Given the description of an element on the screen output the (x, y) to click on. 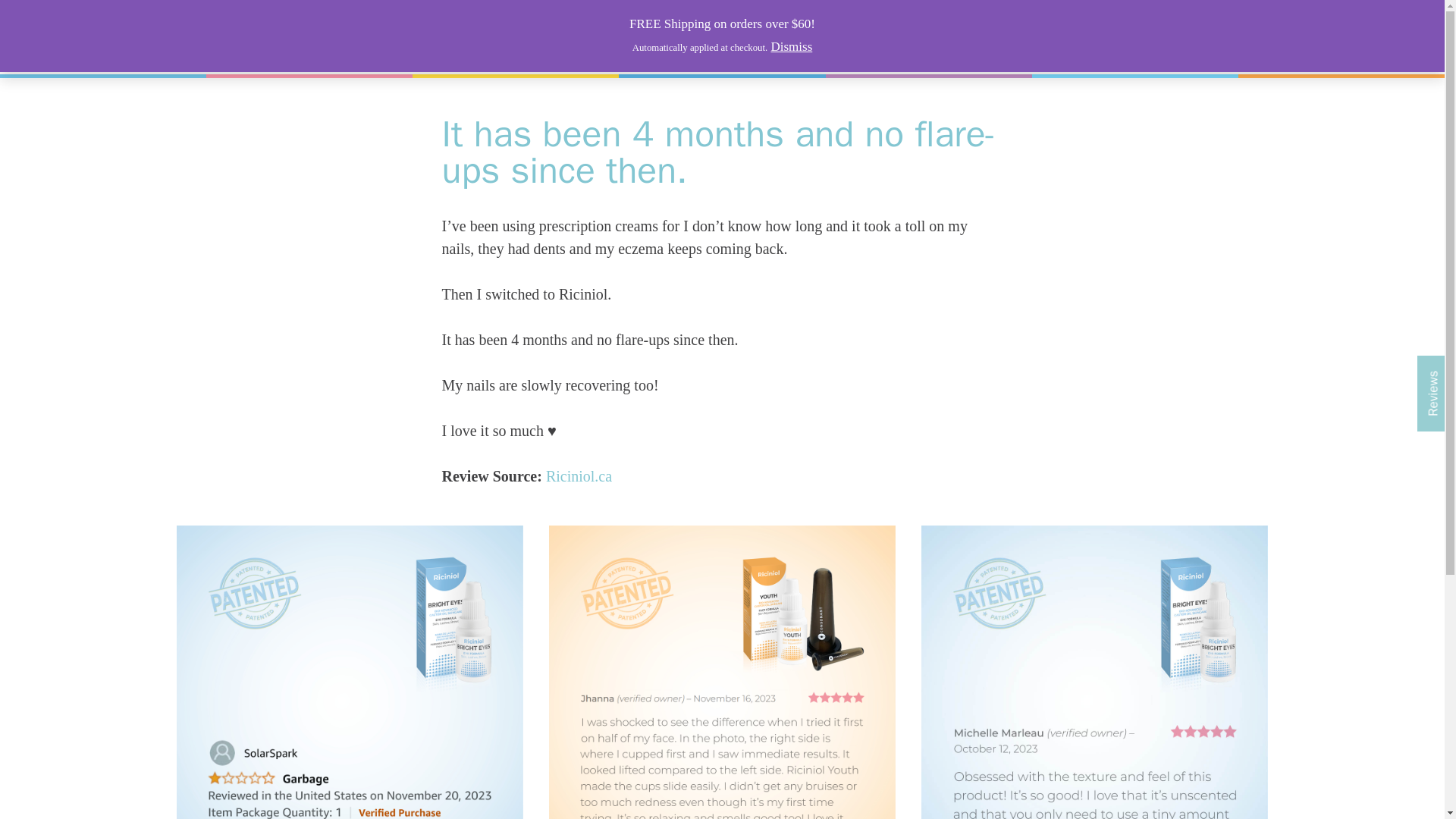
SHOP (870, 36)
WHERE TO BUY (1068, 36)
Riciniol (271, 36)
Riciniol.ca (578, 475)
FAQ (987, 36)
Dismiss (791, 46)
ABOUT (930, 36)
HOME (813, 36)
